Given the description of an element on the screen output the (x, y) to click on. 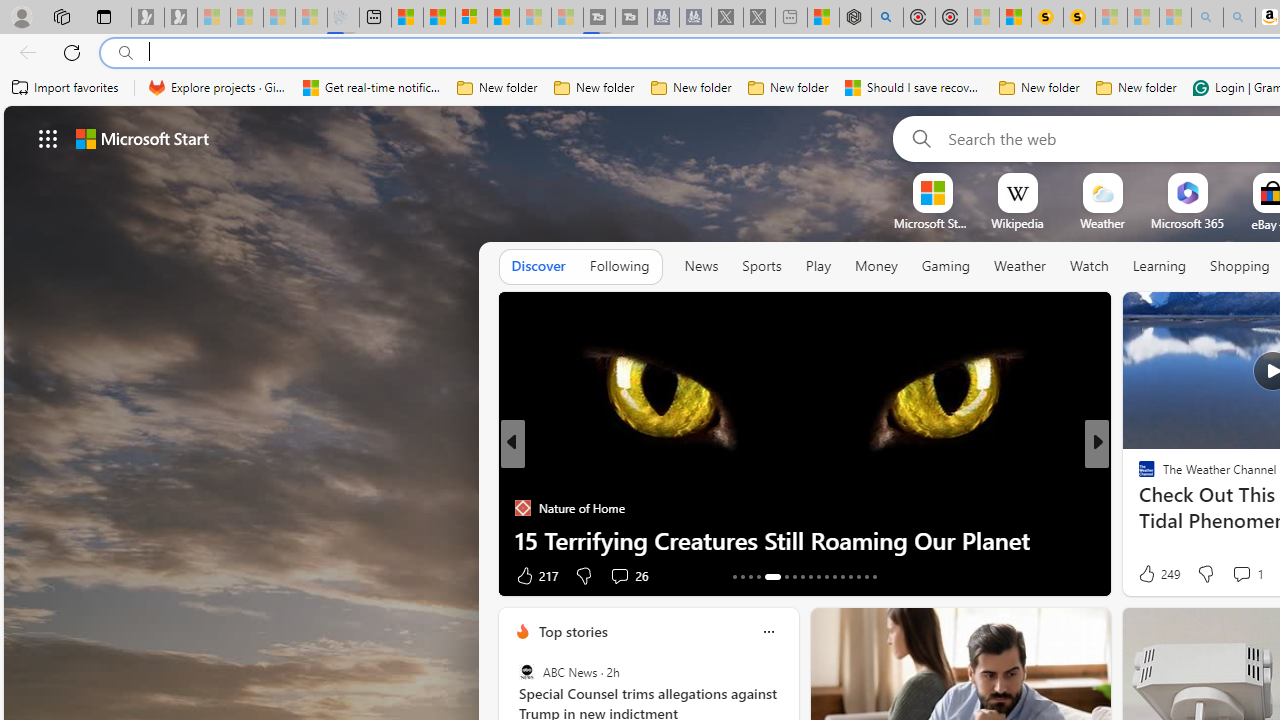
Microsoft start (142, 138)
AutomationID: tab-19 (793, 576)
AutomationID: tab-24 (833, 576)
30 Like (1149, 574)
Nature of Home (522, 507)
AutomationID: tab-17 (772, 576)
Verywell Mind (1138, 507)
New folder (1136, 88)
The Verge (1138, 507)
